Given the description of an element on the screen output the (x, y) to click on. 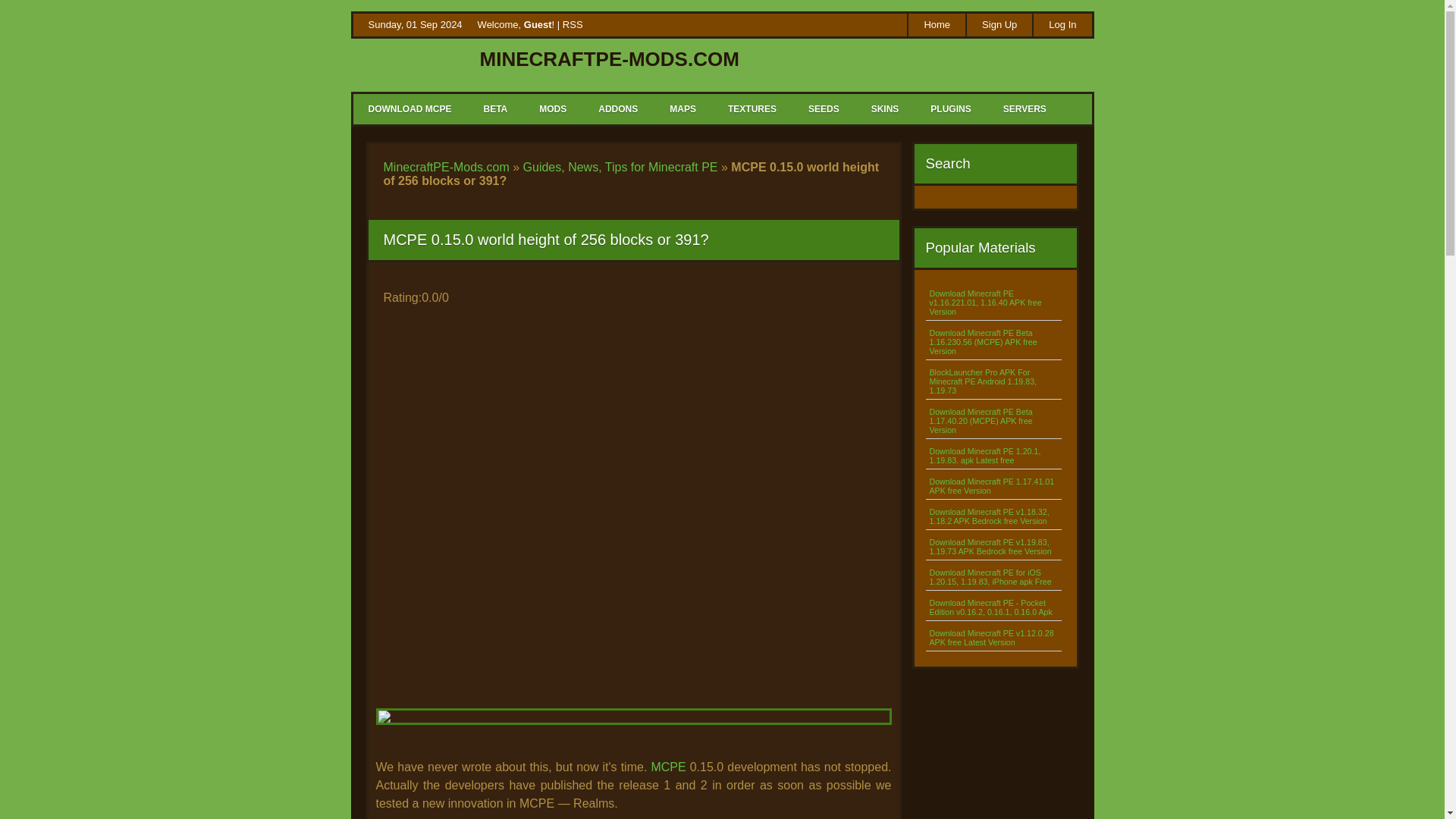
Twitter (845, 25)
ADDONS (616, 109)
Log In (1061, 24)
Click to view in full size... (633, 731)
BETA (494, 109)
Log In (1061, 24)
MAPS (681, 109)
DOWNLOAD MCPE (410, 109)
Home (936, 24)
Sign Up (998, 24)
